Given the description of an element on the screen output the (x, y) to click on. 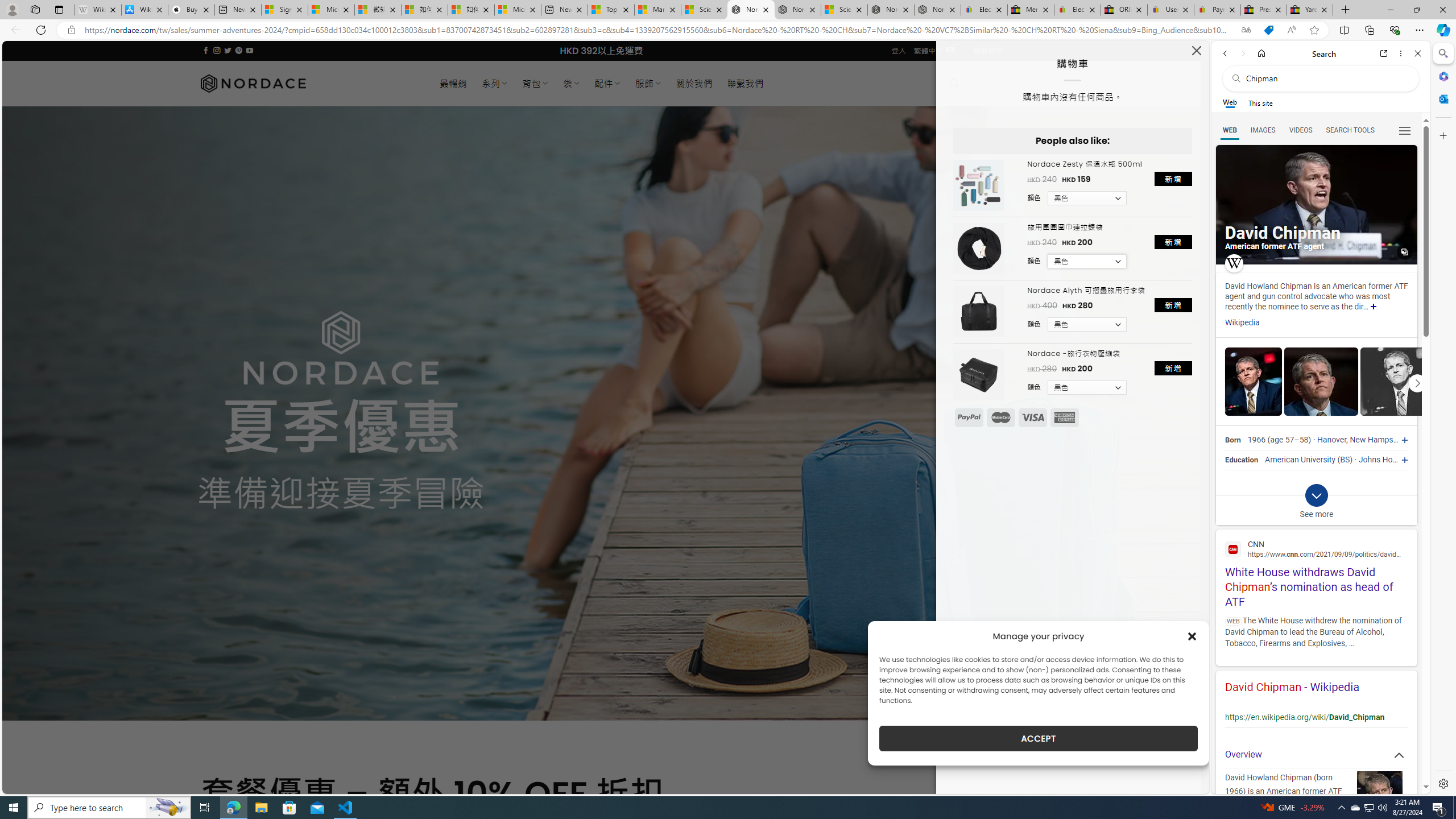
Close (Esc) (1195, 53)
Buy iPad - Apple (191, 9)
Actions for this site (1390, 708)
View details (1396, 381)
